Given the description of an element on the screen output the (x, y) to click on. 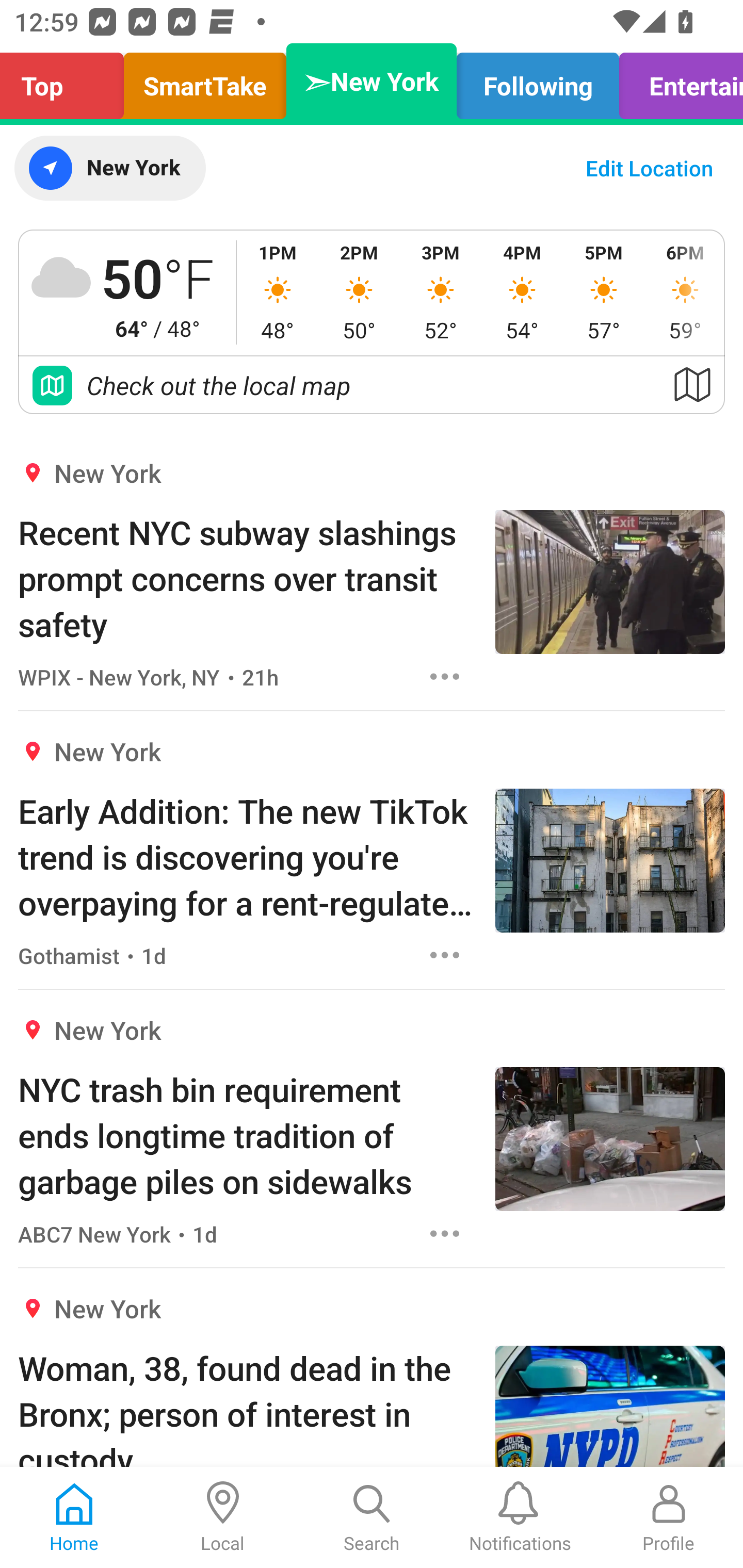
Top (67, 81)
SmartTake (204, 81)
➣New York (371, 81)
Following (537, 81)
New York (109, 168)
Edit Location (648, 168)
1PM 48° (277, 291)
2PM 50° (358, 291)
3PM 52° (440, 291)
4PM 54° (522, 291)
5PM 57° (603, 291)
6PM 59° (684, 291)
Check out the local map (371, 384)
Options (444, 676)
Options (444, 954)
Options (444, 1233)
Local (222, 1517)
Search (371, 1517)
Notifications (519, 1517)
Profile (668, 1517)
